Given the description of an element on the screen output the (x, y) to click on. 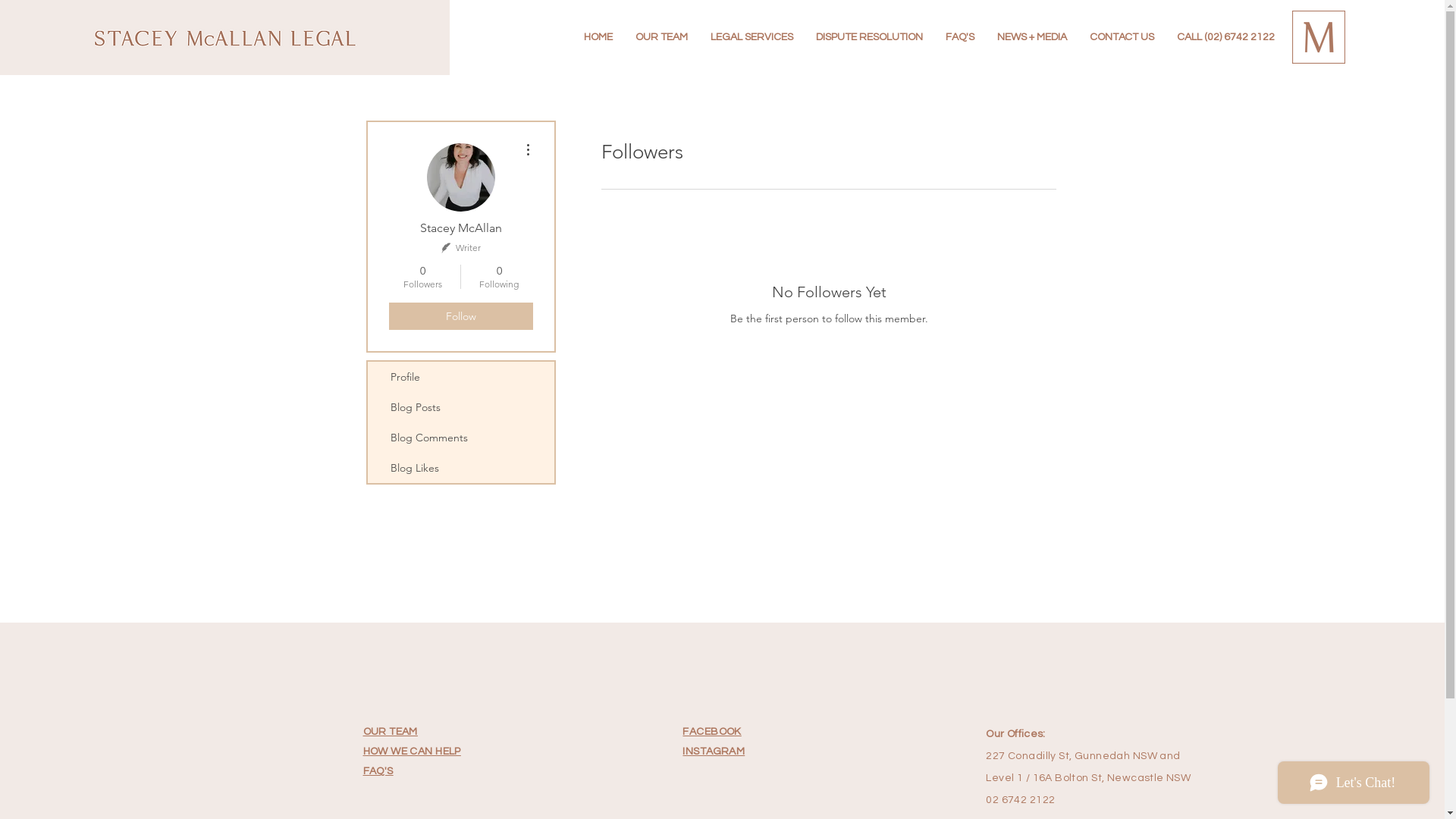
Follow Element type: text (460, 315)
Followers Element type: hover (827, 371)
DISPUTE RESOLUTION Element type: text (869, 37)
LEGAL SERVICES Element type: text (751, 37)
0
Following Element type: text (499, 276)
FAQ'S Element type: text (959, 37)
Blog Likes Element type: text (460, 467)
HOW WE CAN HELP Element type: text (412, 750)
INSTAGRAM Element type: text (713, 750)
FACEBOOK Element type: text (711, 731)
NEWS + MEDIA Element type: text (1031, 37)
OUR TEAM Element type: text (661, 37)
Profile Element type: text (460, 376)
Blog Comments Element type: text (460, 437)
CONTACT US Element type: text (1121, 37)
Blog Posts Element type: text (460, 407)
CALL (02) 6742 2122 Element type: text (1225, 37)
OUR TEAM Element type: text (390, 731)
FAQ'S Element type: text (378, 770)
HOME Element type: text (598, 37)
0
Followers Element type: text (421, 276)
